Given the description of an element on the screen output the (x, y) to click on. 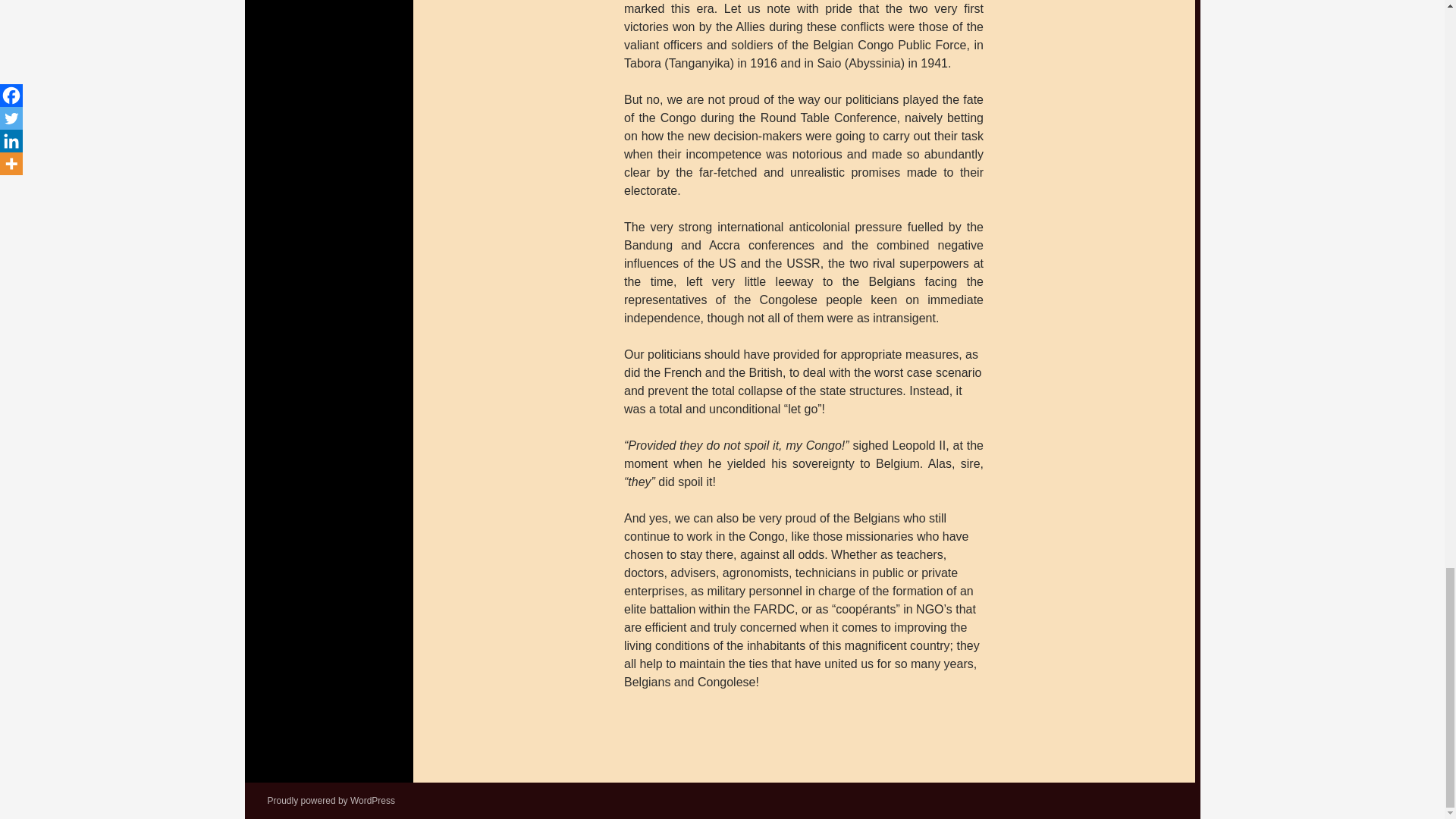
Proudly powered by WordPress (330, 800)
